Given the description of an element on the screen output the (x, y) to click on. 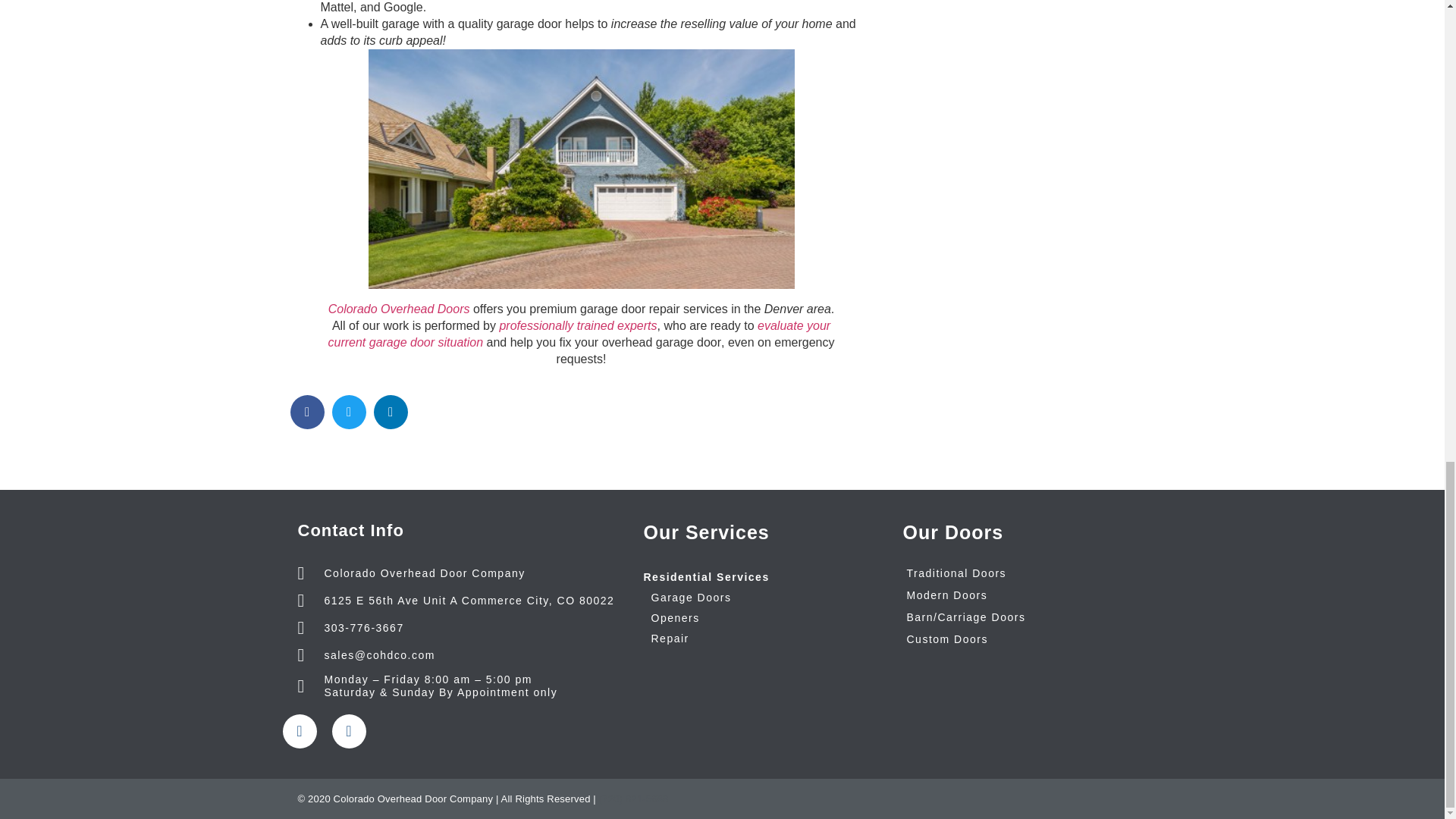
Colorado Overhead Doors (399, 308)
evaluate your current garage door situation (578, 333)
professionally trained experts (577, 325)
